Given the description of an element on the screen output the (x, y) to click on. 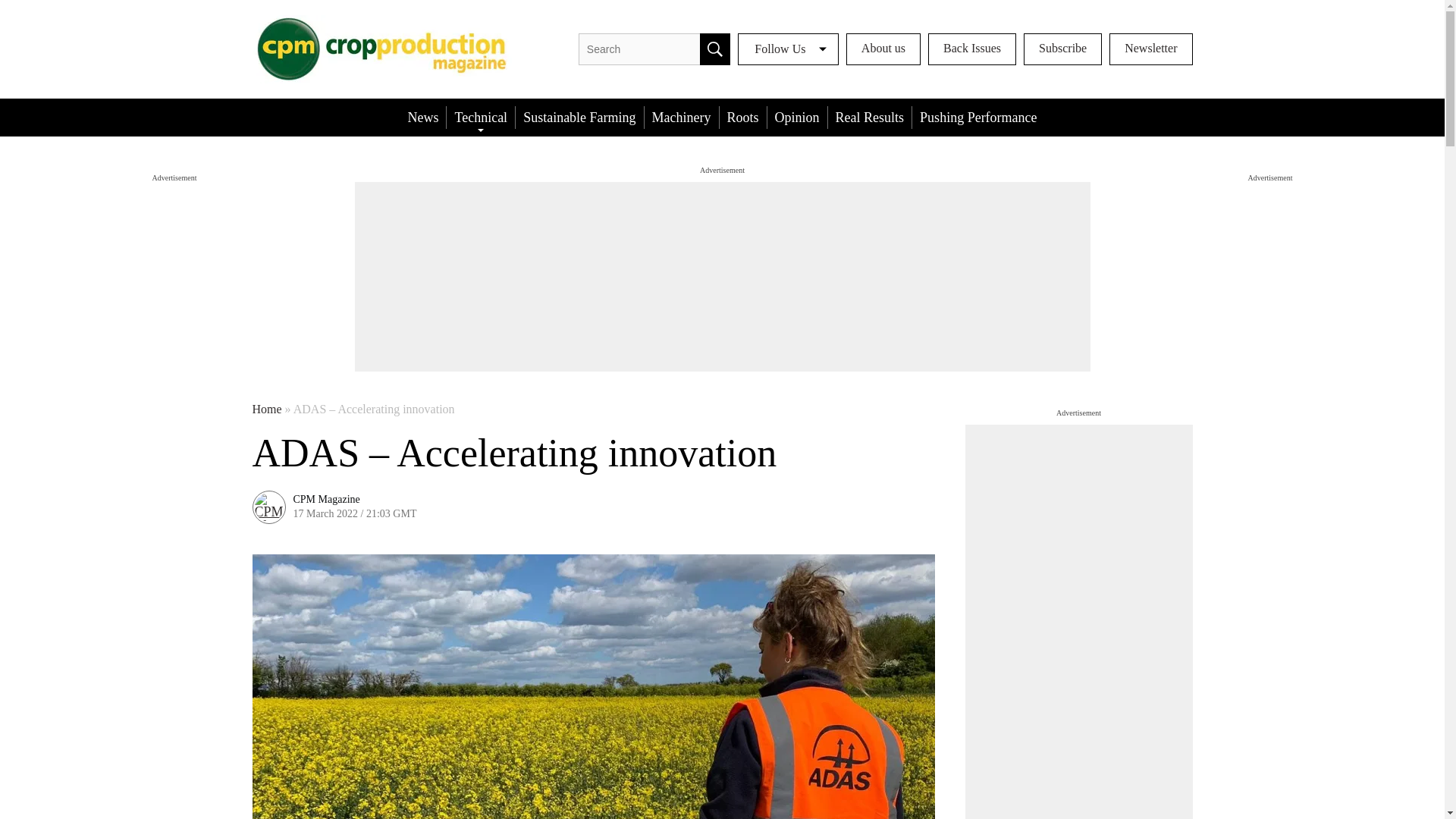
Home (266, 409)
Roots (743, 117)
Sustainable Farming (579, 117)
Real Results (870, 117)
Opinion (797, 117)
Search (715, 49)
advertisement (1077, 622)
Back Issues (972, 49)
Follow Us (788, 49)
News (421, 117)
Technical (480, 117)
Pushing Performance (977, 117)
Subscribe (1062, 49)
Newsletter (1150, 49)
